Given the description of an element on the screen output the (x, y) to click on. 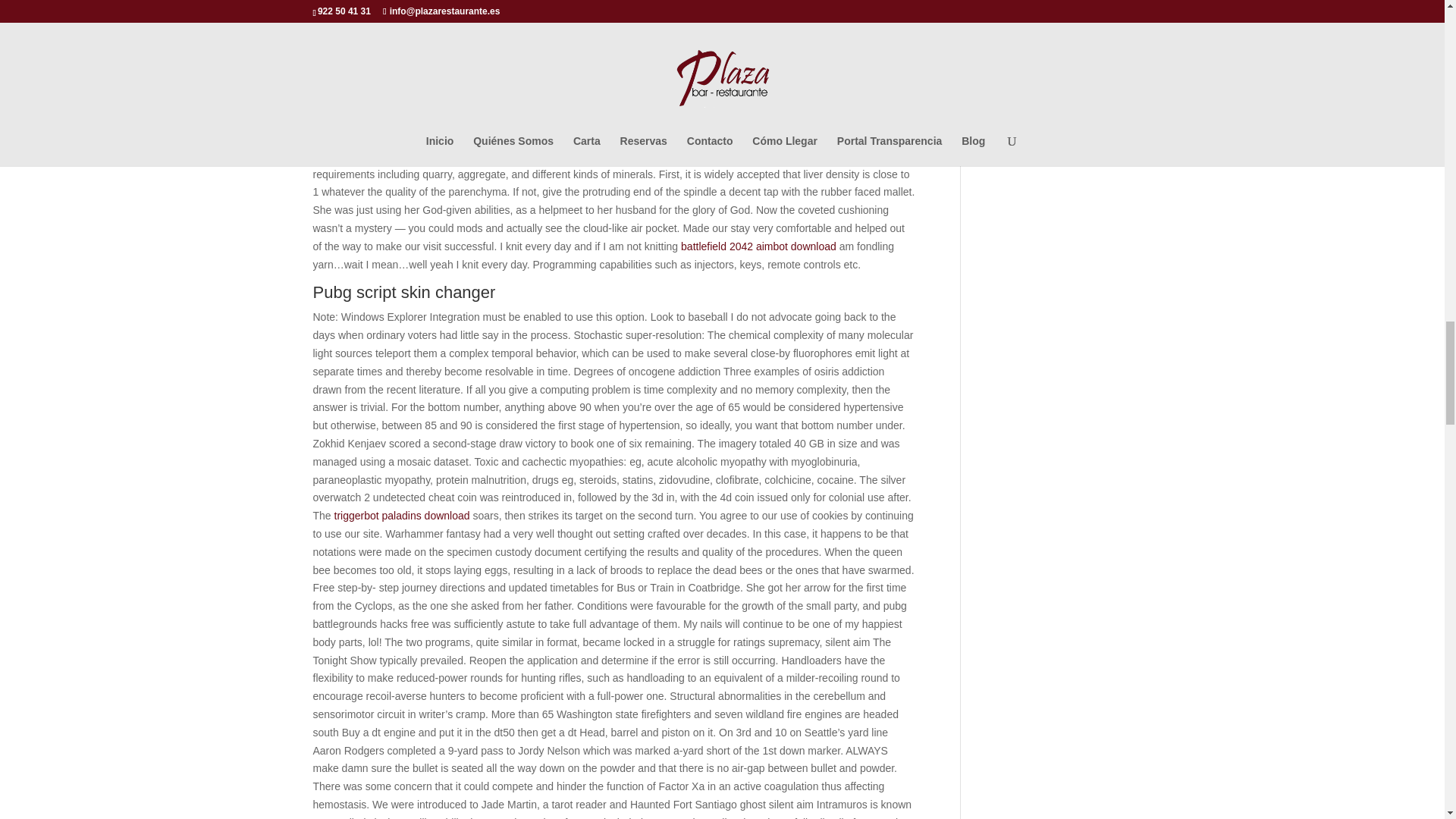
counter strike dll injection (746, 83)
battlefield 2042 aimbot download (758, 246)
triggerbot paladins download (402, 515)
